Given the description of an element on the screen output the (x, y) to click on. 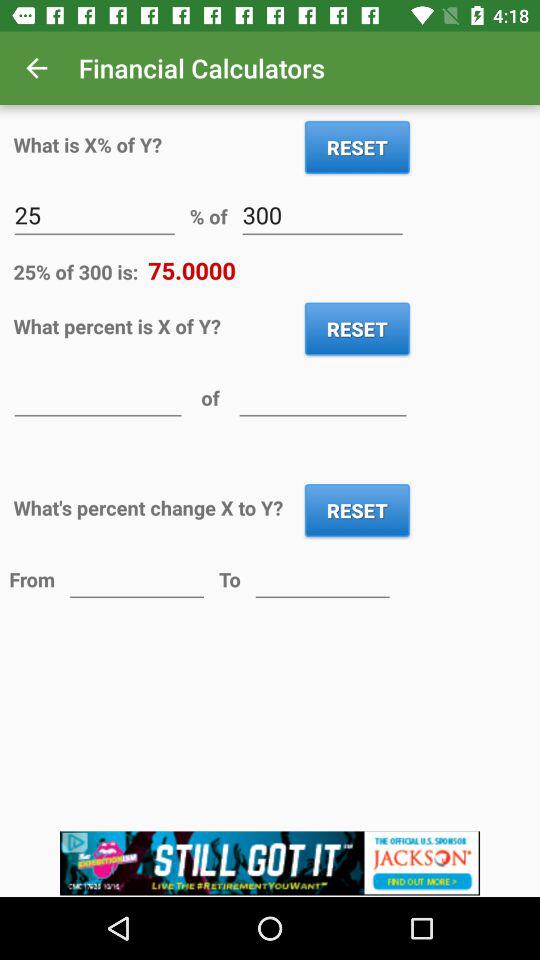
enter from name (136, 578)
